Given the description of an element on the screen output the (x, y) to click on. 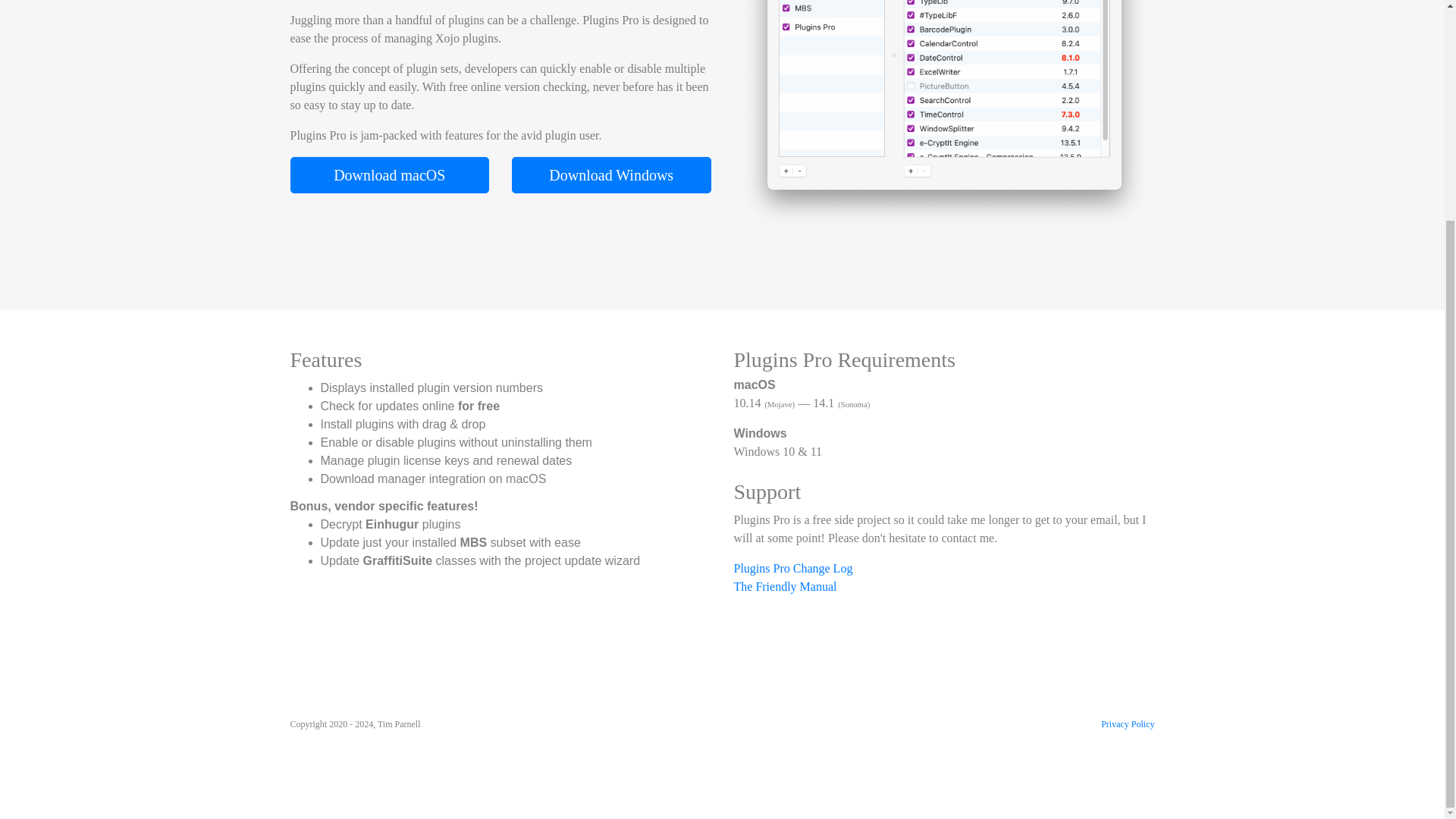
Plugins Pro Change Log (943, 568)
The Friendly Manual (943, 587)
Privacy Policy (1127, 724)
Download macOS (389, 175)
Download Windows (611, 175)
